Given the description of an element on the screen output the (x, y) to click on. 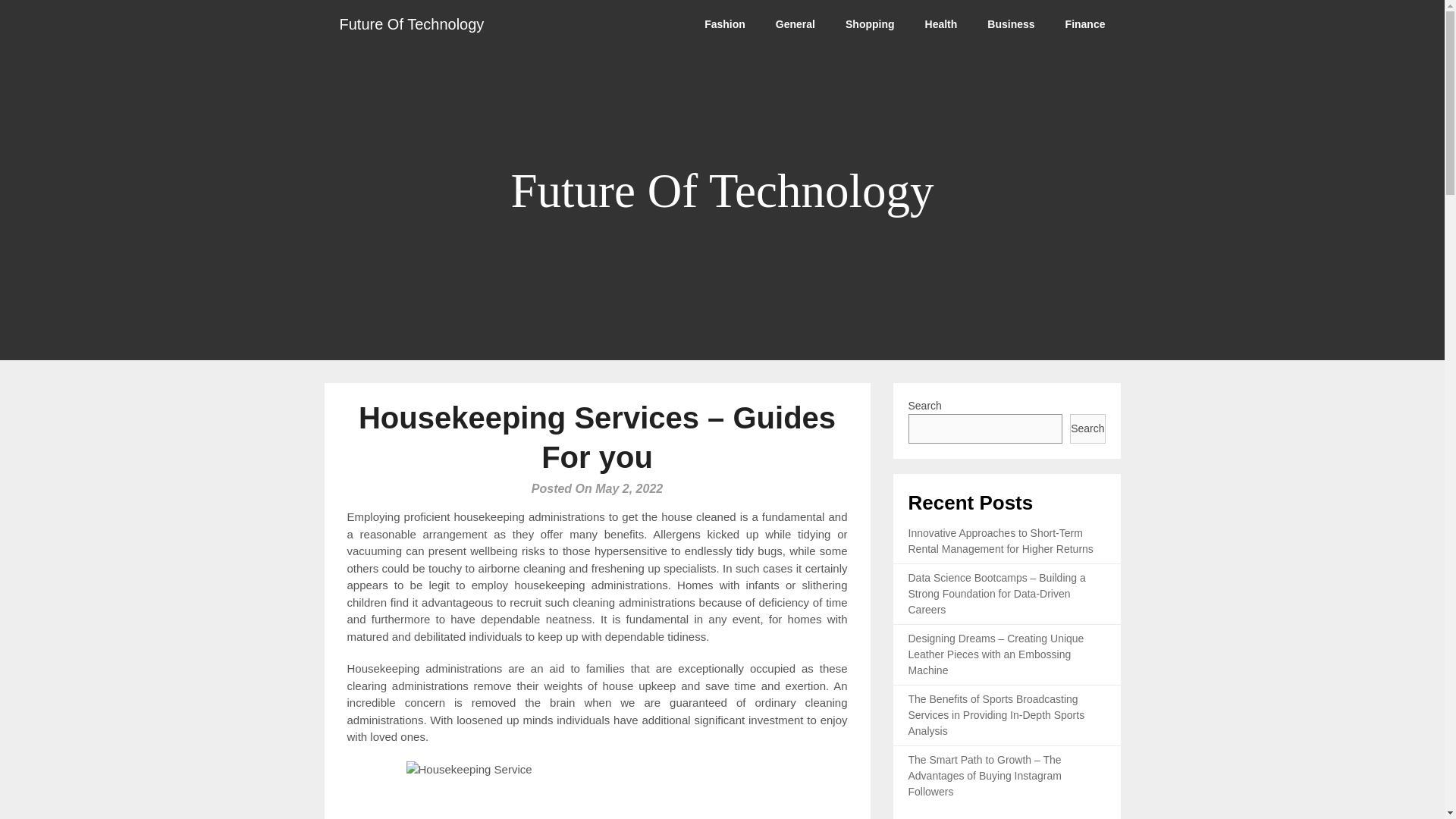
Search (1087, 428)
Fashion (724, 24)
Finance (1085, 24)
Business (1010, 24)
Future Of Technology (411, 24)
Health (941, 24)
Shopping (869, 24)
General (794, 24)
